Given the description of an element on the screen output the (x, y) to click on. 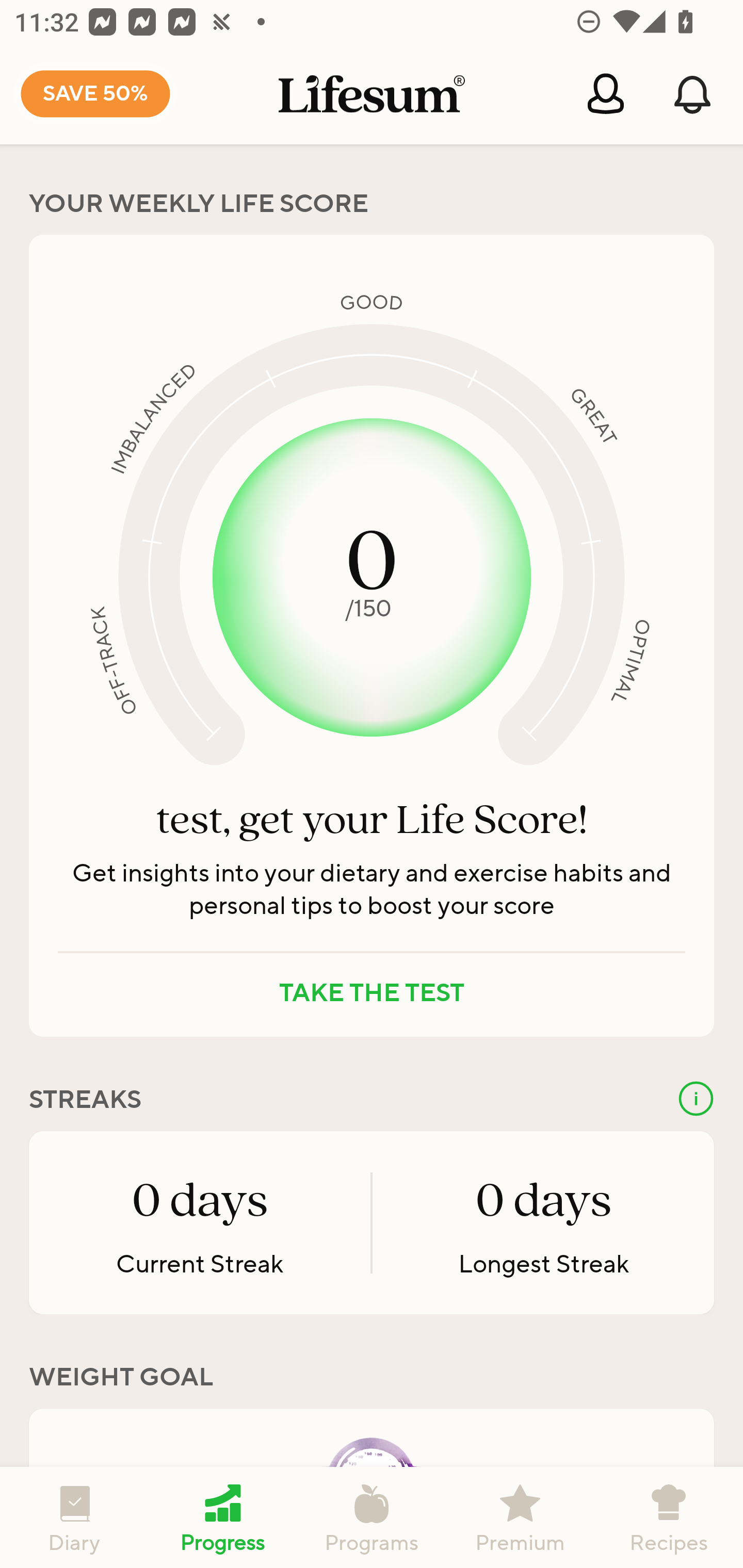
TAKE THE TEST (371, 993)
Diary (74, 1517)
Programs (371, 1517)
Premium (519, 1517)
Recipes (668, 1517)
